Given the description of an element on the screen output the (x, y) to click on. 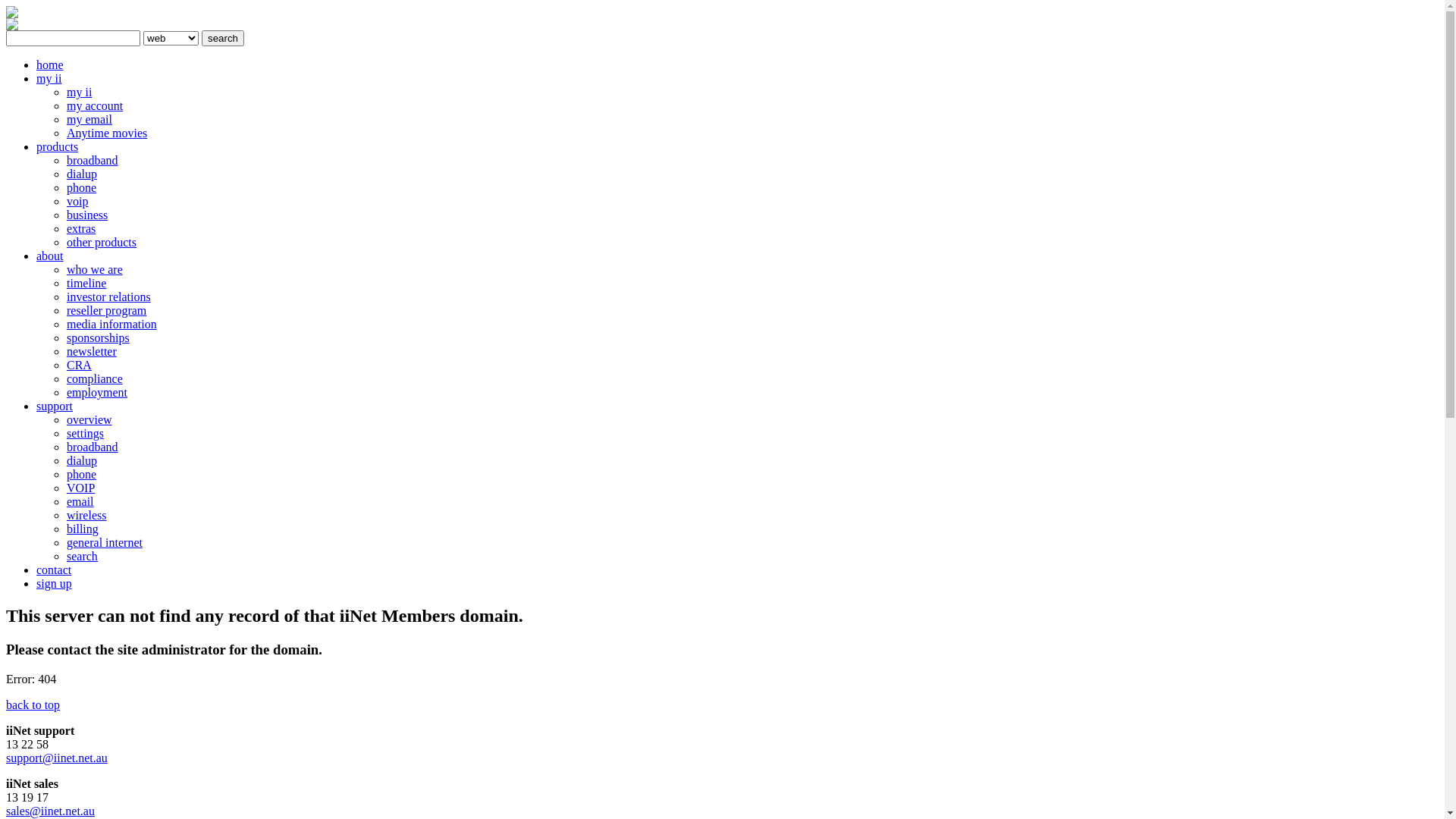
reseller program Element type: text (106, 310)
home Element type: text (49, 64)
back to top Element type: text (32, 704)
CRA Element type: text (78, 364)
sign up Element type: text (54, 583)
compliance Element type: text (94, 378)
support@iinet.net.au Element type: text (56, 757)
email Element type: text (80, 501)
overview Element type: text (89, 419)
my ii Element type: text (78, 91)
my ii Element type: text (48, 78)
broadband Element type: text (92, 446)
VOIP Element type: text (80, 487)
search Element type: text (222, 38)
business Element type: text (86, 214)
settings Element type: text (84, 432)
my email Element type: text (89, 118)
newsletter Element type: text (91, 351)
about Element type: text (49, 255)
who we are Element type: text (94, 269)
broadband Element type: text (92, 159)
investor relations Element type: text (108, 296)
voip Element type: text (76, 200)
support Element type: text (54, 405)
sponsorships Element type: text (97, 337)
my account Element type: text (94, 105)
sales@iinet.net.au Element type: text (50, 810)
products Element type: text (57, 146)
extras Element type: text (80, 228)
Anytime movies Element type: text (106, 132)
other products Element type: text (101, 241)
dialup Element type: text (81, 460)
wireless Element type: text (86, 514)
phone Element type: text (81, 473)
media information Element type: text (111, 323)
dialup Element type: text (81, 173)
general internet Element type: text (104, 542)
phone Element type: text (81, 187)
employment Element type: text (96, 391)
search Element type: text (81, 555)
billing Element type: text (82, 528)
contact Element type: text (53, 569)
timeline Element type: text (86, 282)
